Given the description of an element on the screen output the (x, y) to click on. 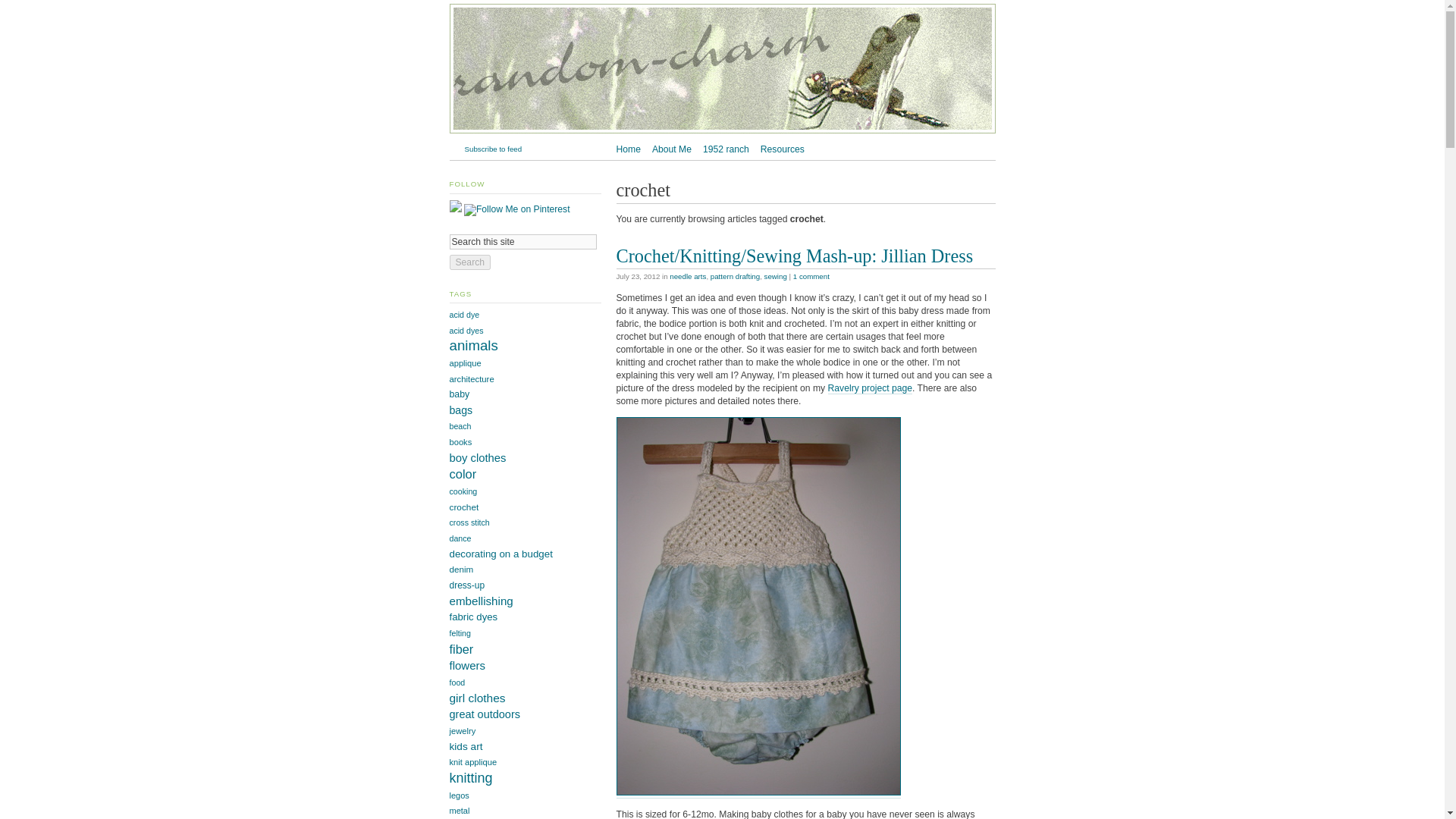
Resources (782, 149)
pattern drafting (735, 275)
Home (627, 149)
1952 ranch (726, 149)
needle arts (687, 275)
About Me (671, 149)
1 comment (811, 275)
Return to front page (627, 149)
Return to main page (721, 132)
Search (469, 262)
